Given the description of an element on the screen output the (x, y) to click on. 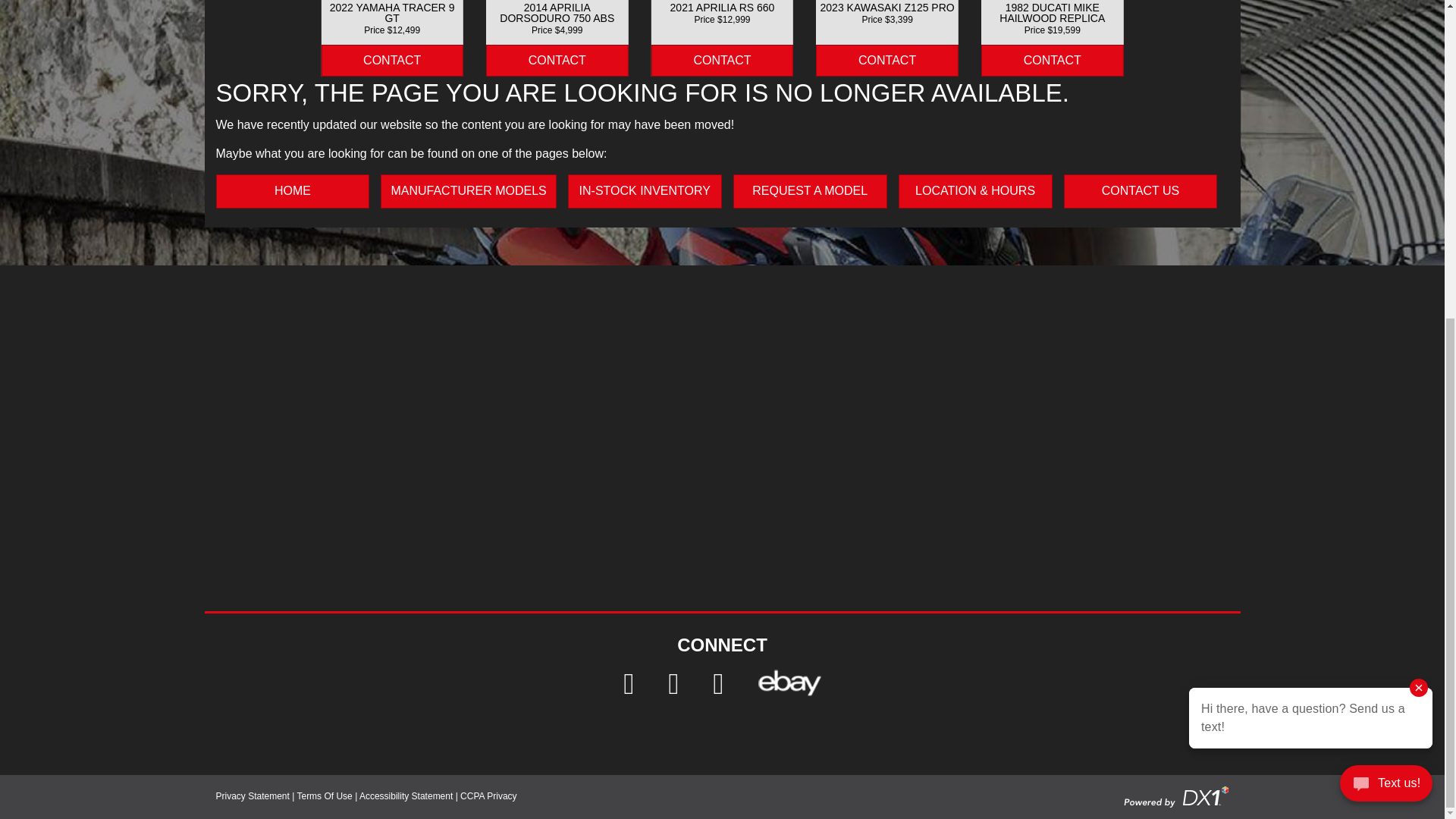
Powered by DX1 (1176, 795)
